Given the description of an element on the screen output the (x, y) to click on. 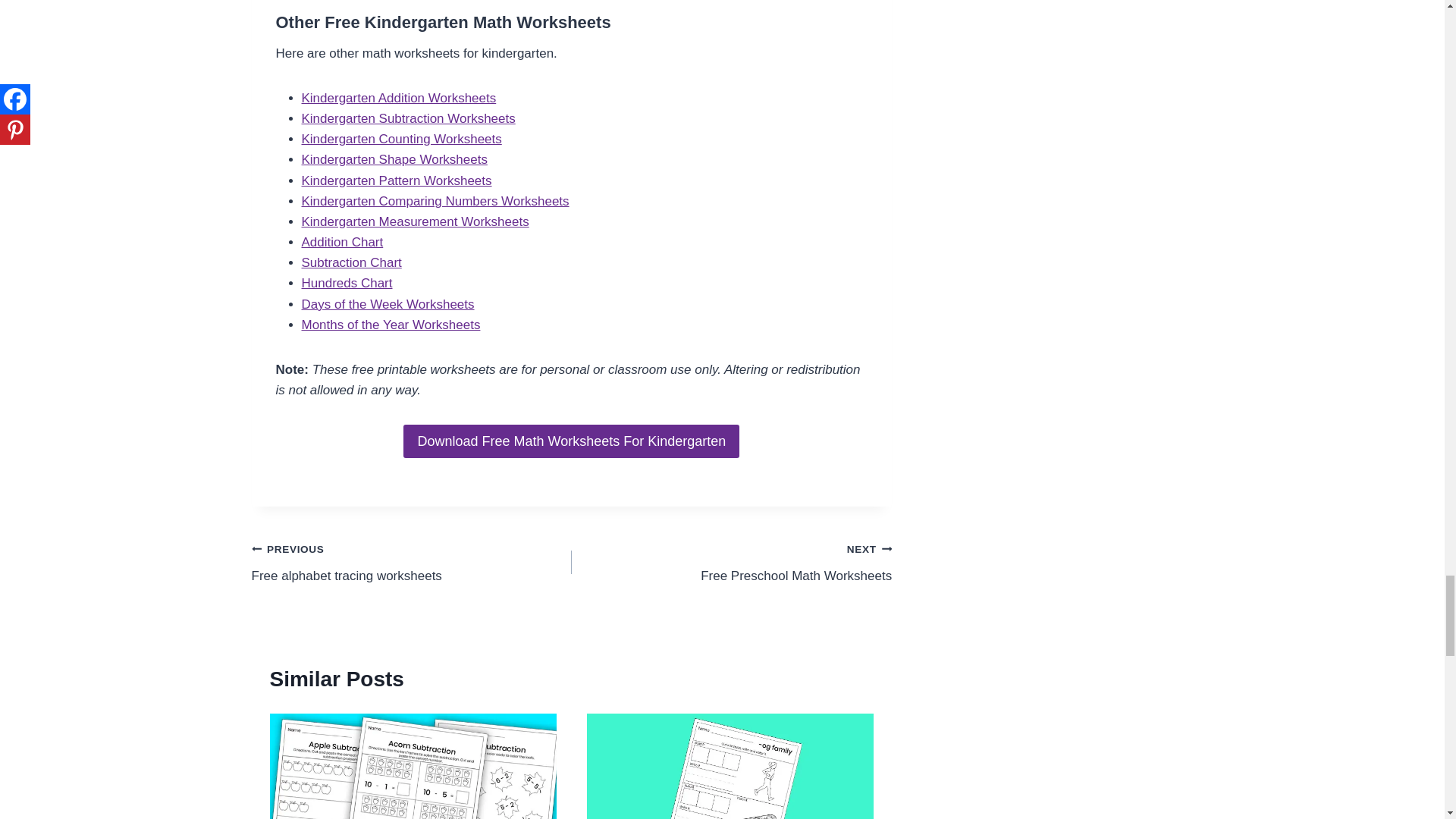
Kindergarten Addition Worksheets (398, 97)
Download Free Math Worksheets For Kindergarten (571, 441)
Kindergarten Pattern Worksheets (396, 180)
Kindergarten Measurement Worksheets (415, 221)
Hundreds Chart (347, 283)
Kindergarten Subtraction Worksheets (408, 118)
Kindergarten Comparing Numbers Worksheets (731, 562)
Kindergarten Shape Worksheets (435, 201)
